Given the description of an element on the screen output the (x, y) to click on. 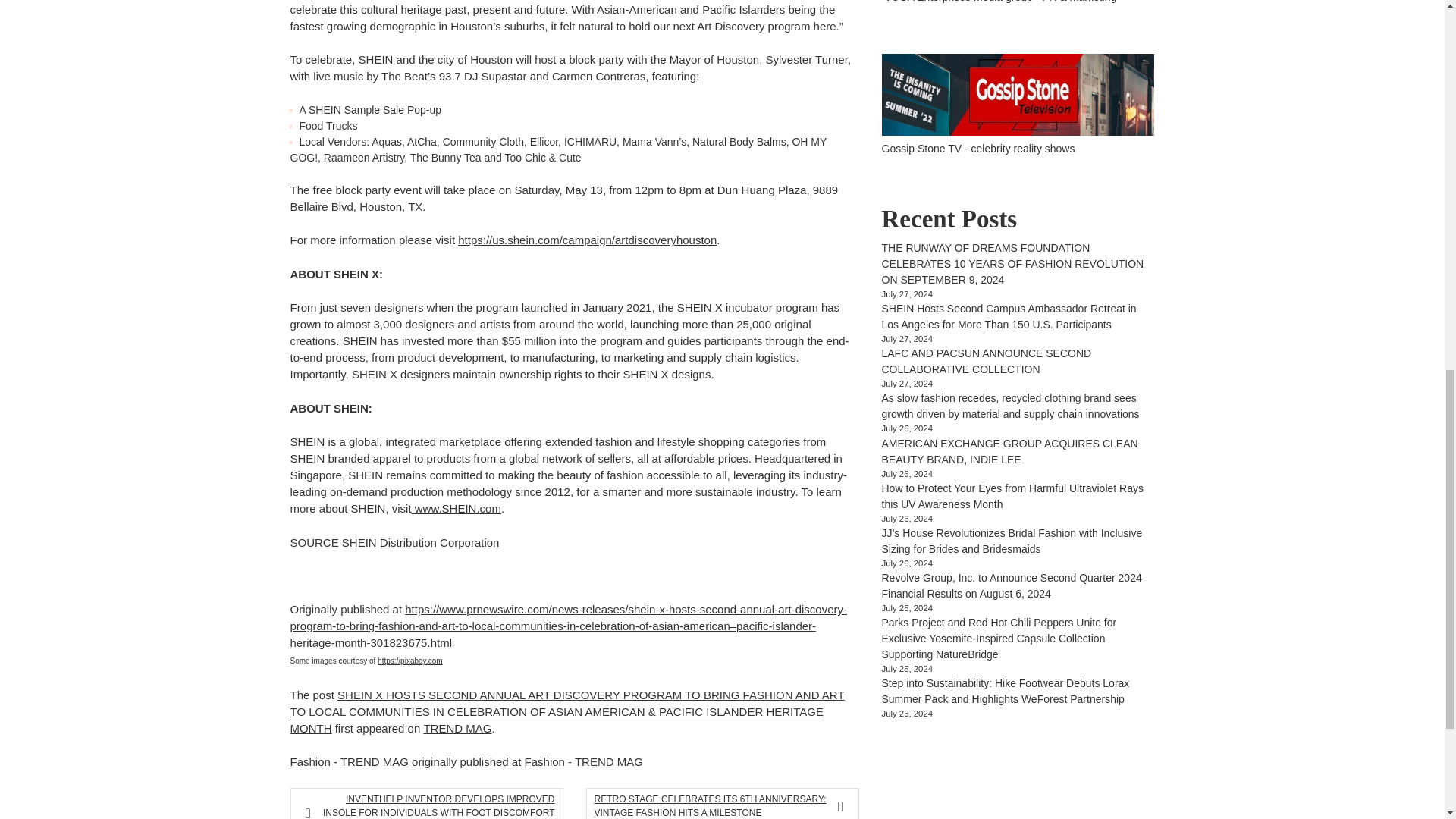
TREND MAG (457, 727)
Fashion - TREND MAG (583, 761)
Fashion - TREND MAG (348, 761)
www.SHEIN.com (457, 508)
